Given the description of an element on the screen output the (x, y) to click on. 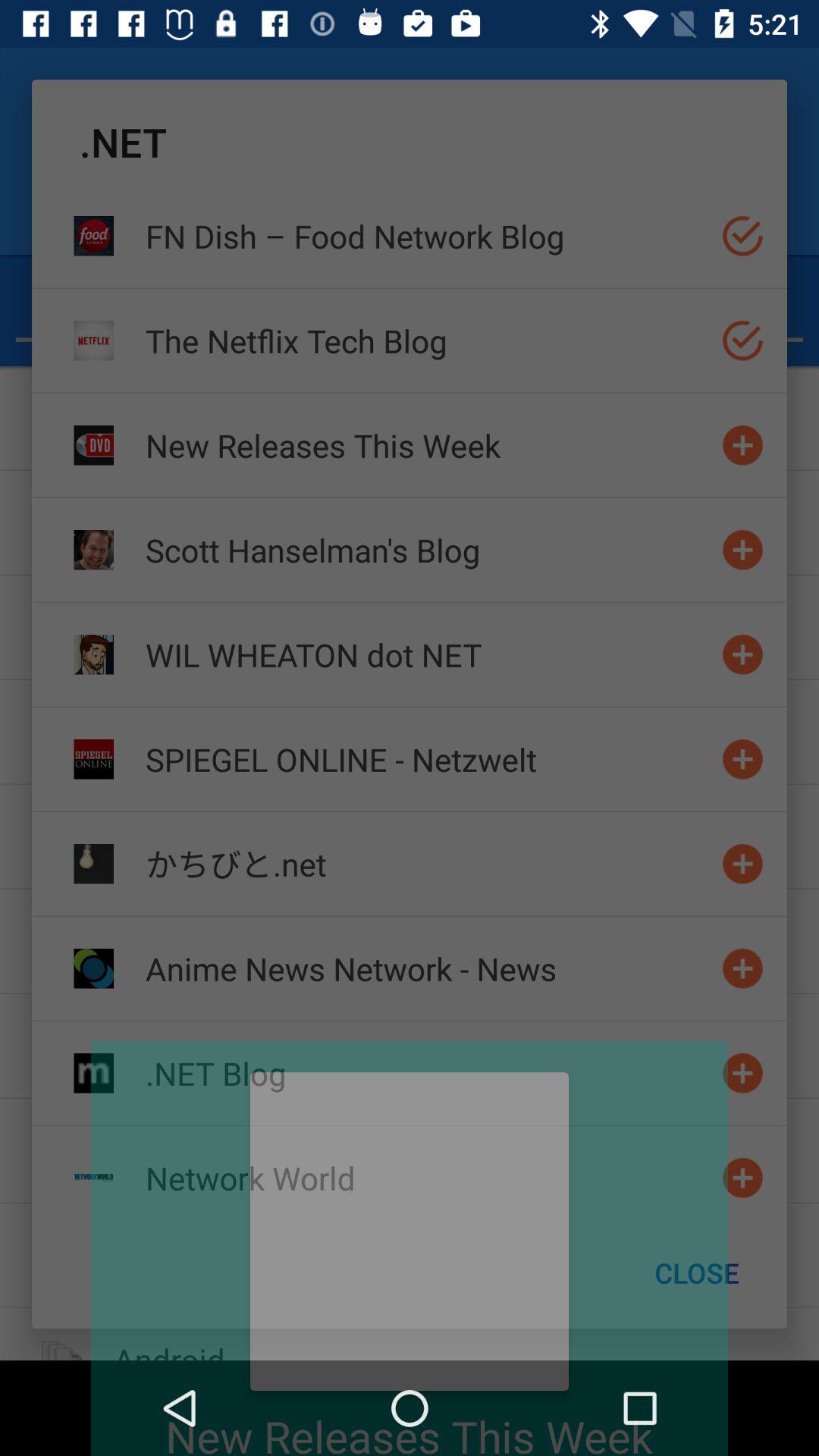
add blog (742, 759)
